Given the description of an element on the screen output the (x, y) to click on. 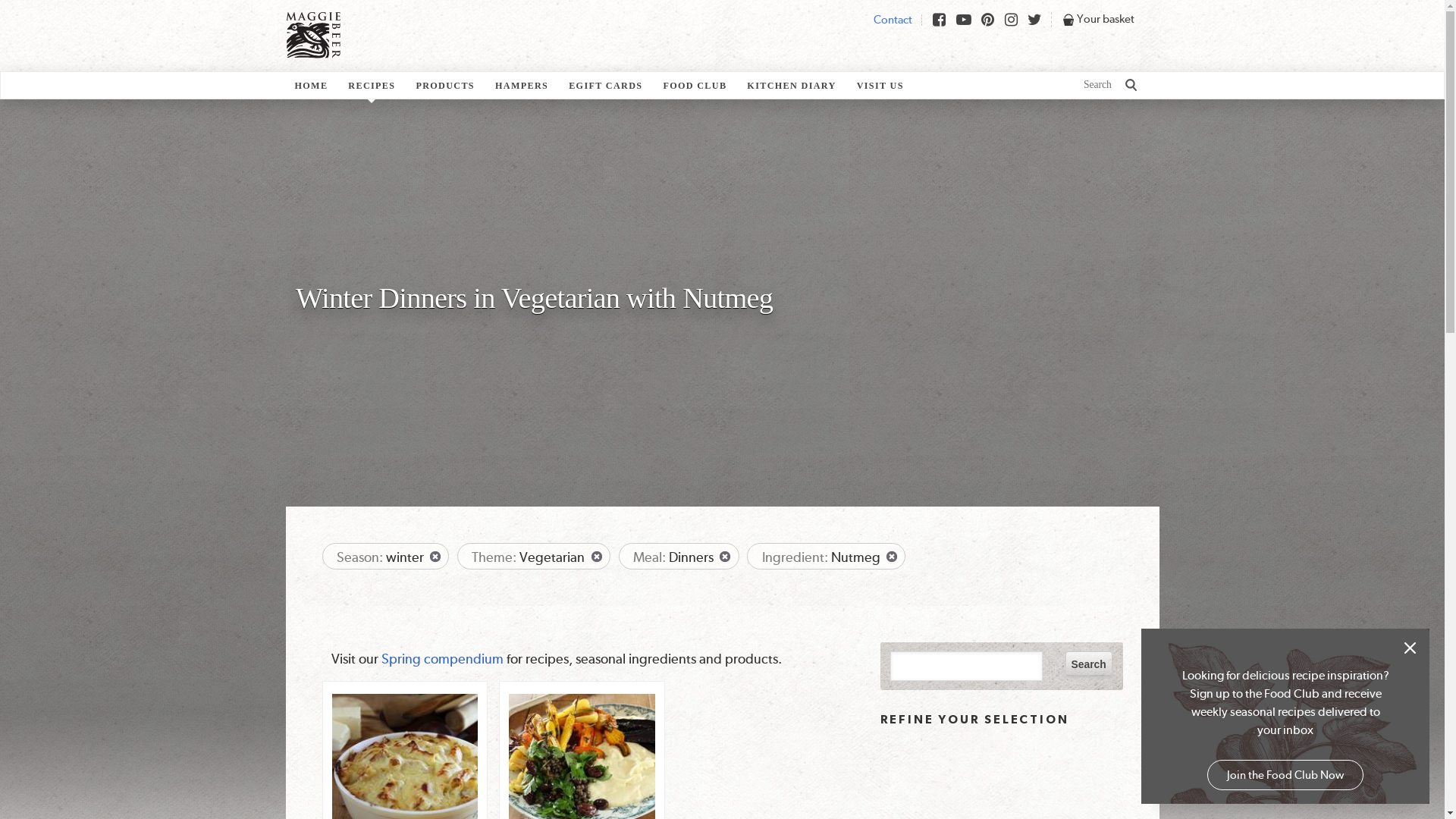
EGIFT CARDS Element type: text (605, 85)
PRODUCTS Element type: text (444, 85)
Clear Element type: text (725, 556)
Your basket   Element type: text (1106, 18)
Maggie on Twitter Element type: hover (1034, 19)
HOME Element type: text (310, 85)
Clear Element type: text (435, 556)
HAMPERS Element type: text (521, 85)
FOOD CLUB Element type: text (694, 85)
Search Element type: text (1088, 664)
VISIT US Element type: text (880, 85)
RECIPES Element type: text (371, 85)
Contact Element type: text (892, 18)
Maggie on Youtube Element type: hover (962, 19)
Maggie on Instagram Element type: hover (1010, 19)
Maggie on Pinterest Element type: hover (987, 19)
Spring compendium Element type: text (442, 658)
Clear Element type: text (596, 556)
Maggie on Facebook Element type: hover (938, 19)
Clear Element type: text (891, 556)
Join the Food Club Now Element type: text (1285, 774)
KITCHEN DIARY Element type: text (790, 85)
